Given the description of an element on the screen output the (x, y) to click on. 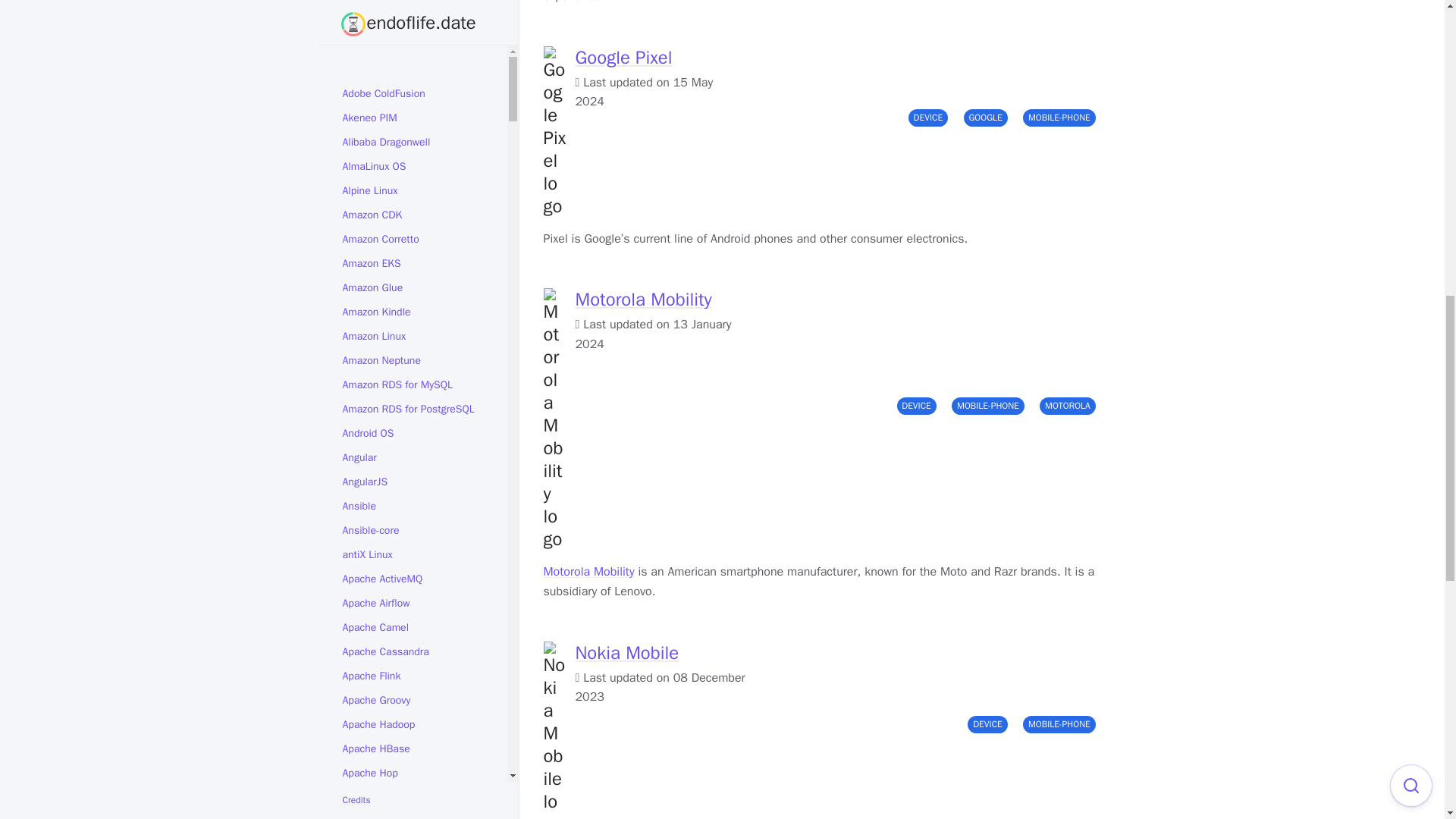
Apache Spark (412, 124)
Apache Kafka (412, 7)
Apache Log4j (412, 27)
Apache Maven (412, 75)
Apache Lucene (412, 51)
Apache Struts (412, 148)
Apache Solr (412, 99)
